Given the description of an element on the screen output the (x, y) to click on. 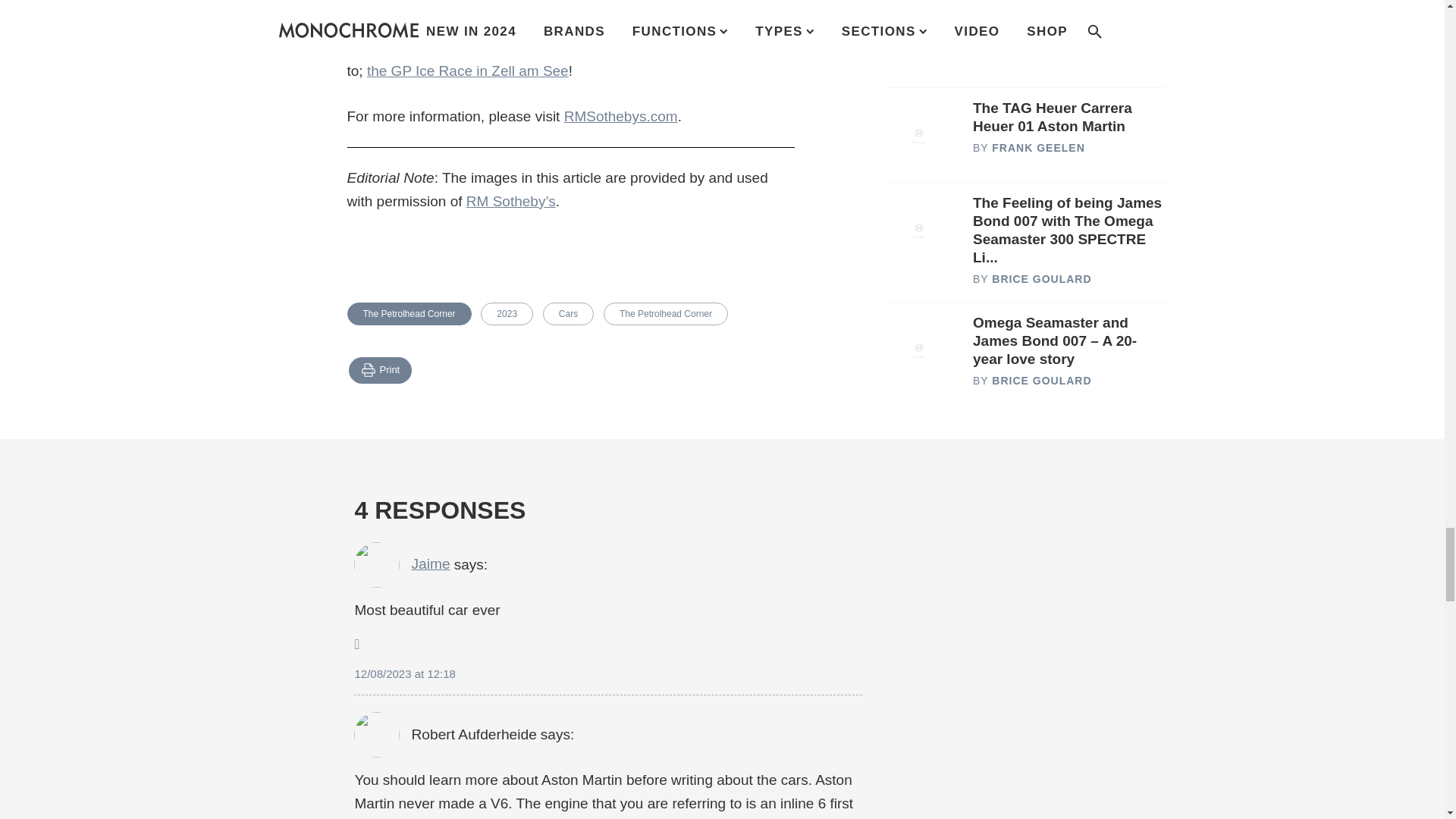
The Petrolhead Corner (666, 313)
The Petrolhead Corner (409, 313)
2023 (506, 313)
Cars (568, 313)
